Given the description of an element on the screen output the (x, y) to click on. 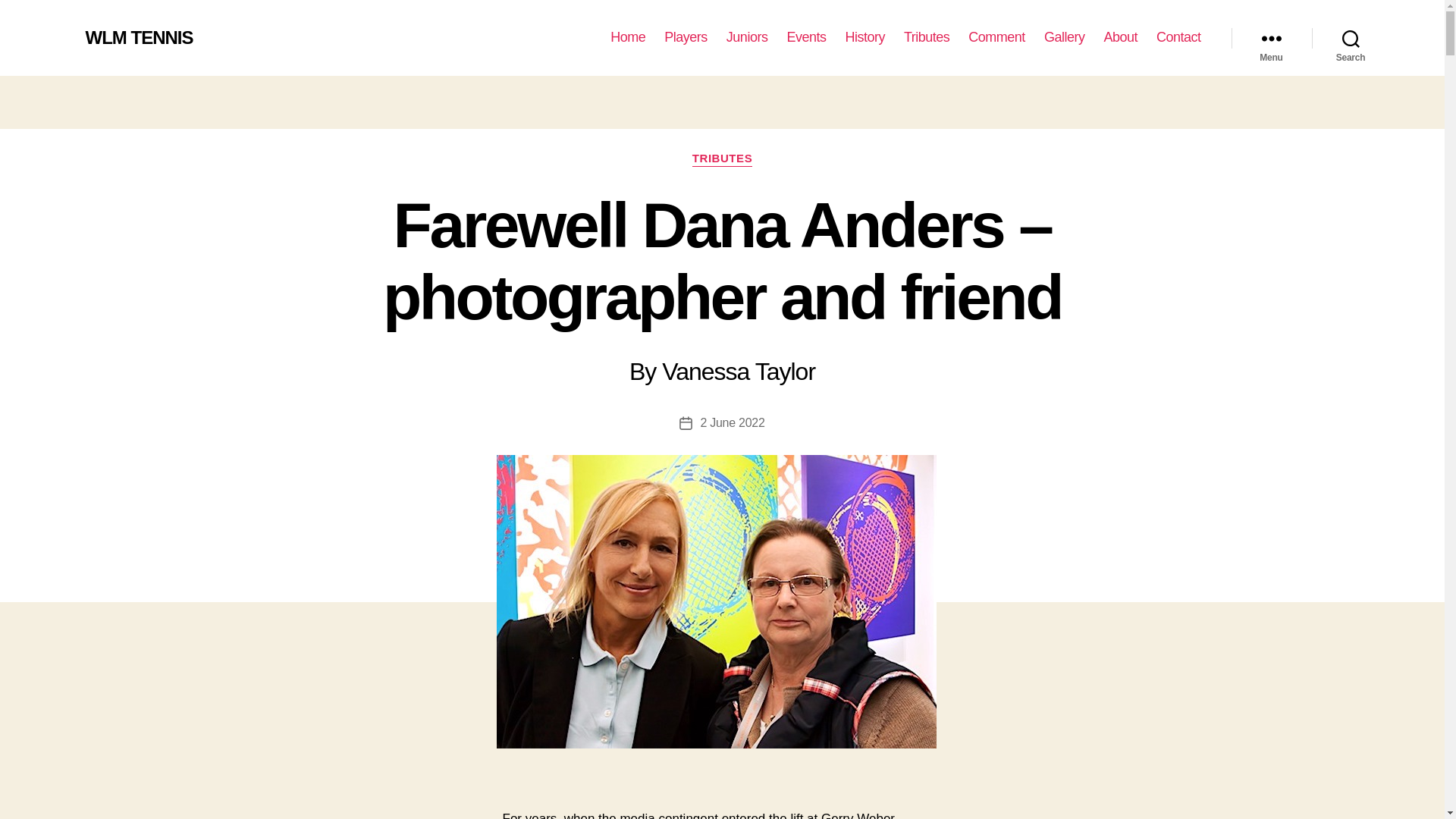
About (1120, 37)
History (864, 37)
Events (805, 37)
Search (1350, 37)
Comment (996, 37)
Tributes (926, 37)
Contact (1178, 37)
Players (685, 37)
TRIBUTES (722, 159)
Juniors (747, 37)
